Given the description of an element on the screen output the (x, y) to click on. 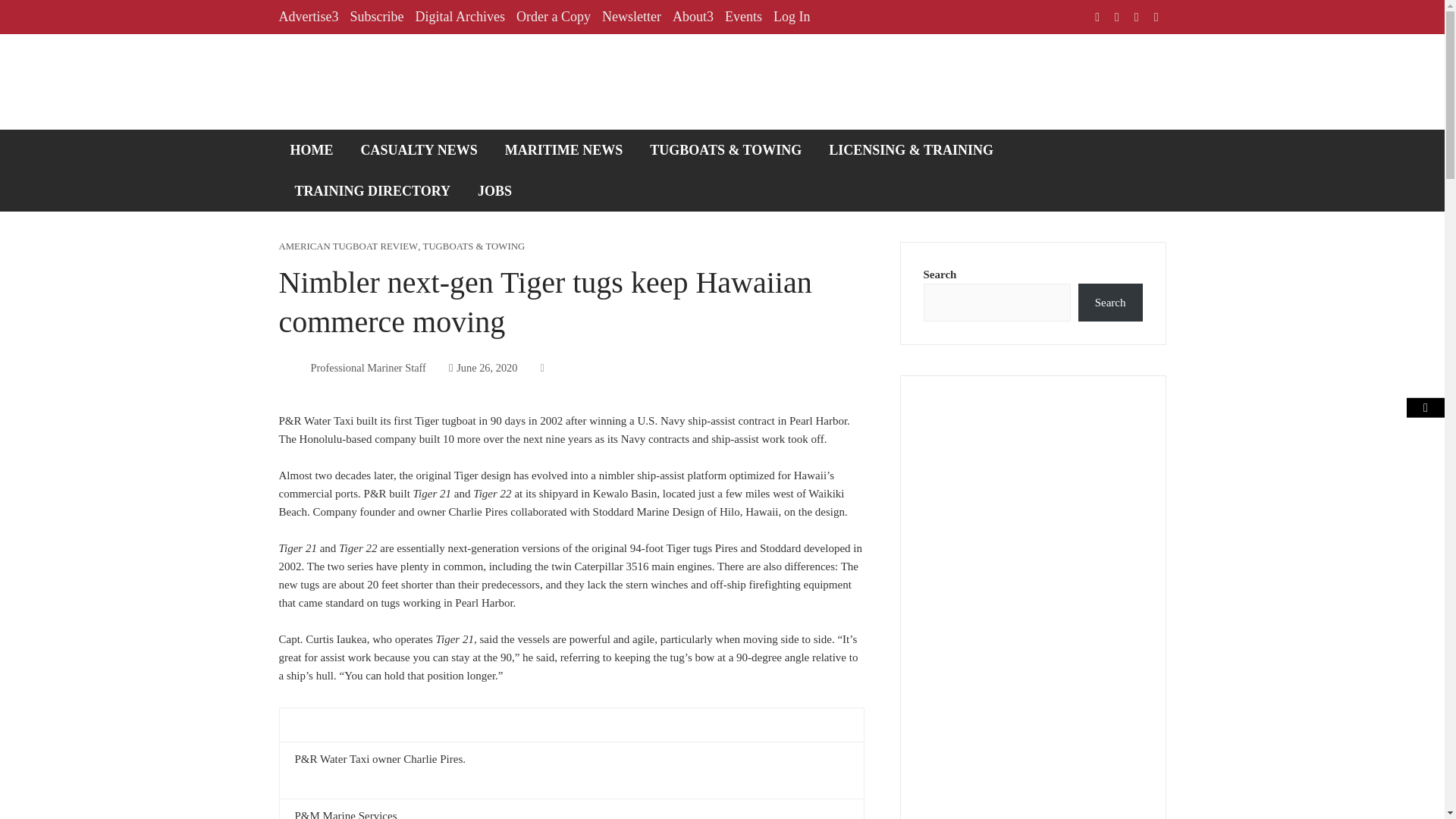
Subscribe (376, 17)
MARITIME NEWS (563, 149)
About (692, 17)
Log In (791, 17)
Order a Copy (553, 17)
Events (743, 17)
HOME (312, 149)
AMERICAN TUGBOAT REVIEW (349, 246)
TRAINING DIRECTORY (373, 190)
Digital Archives (458, 17)
JOBS (493, 190)
Advertise (309, 17)
Newsletter (631, 17)
CASUALTY NEWS (418, 149)
